Given the description of an element on the screen output the (x, y) to click on. 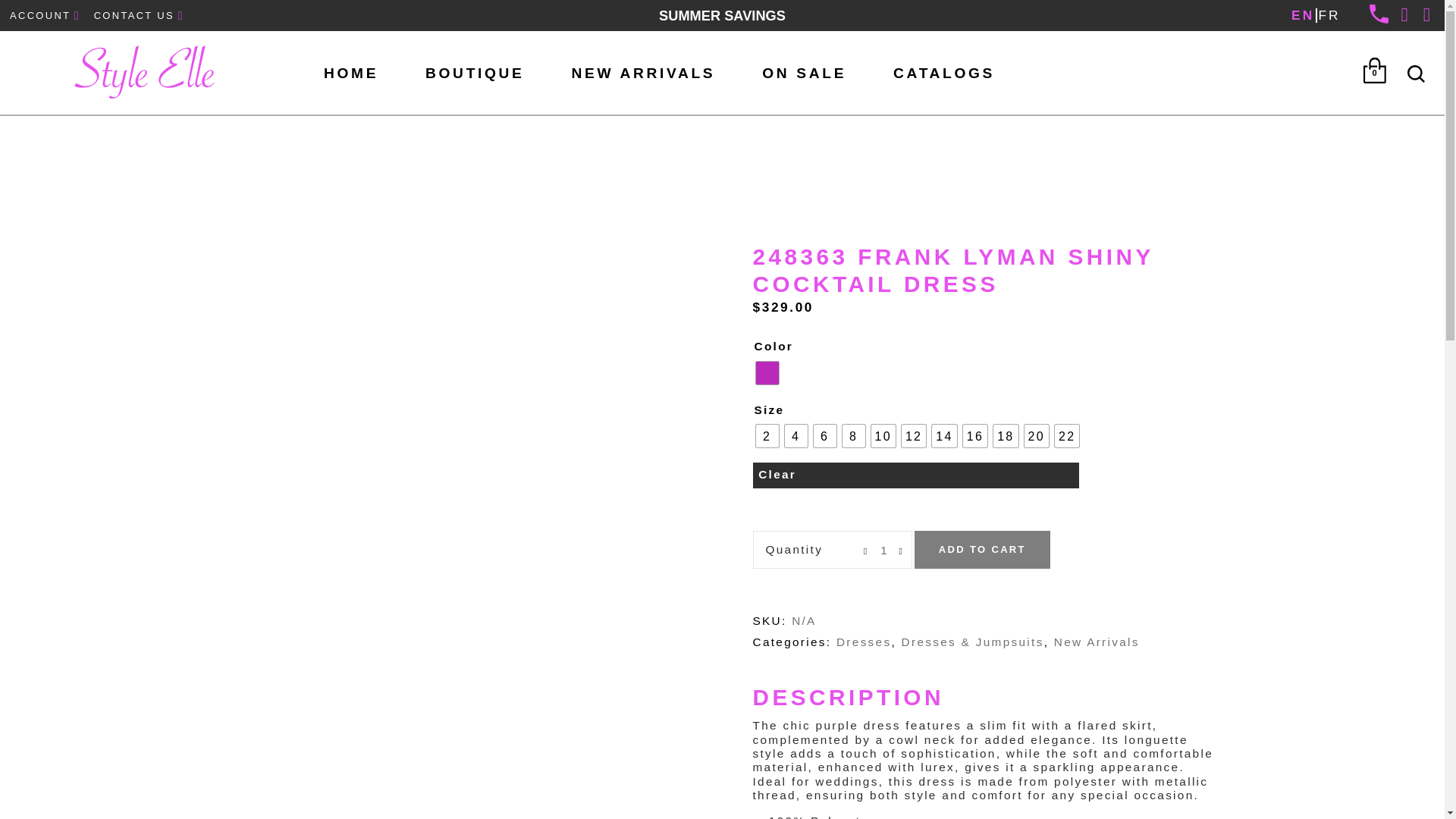
6 (823, 436)
18 (1004, 436)
HOME (350, 72)
2 (766, 436)
ACCOUNT (47, 15)
4 (795, 436)
10 (882, 436)
20 (1036, 436)
8 (852, 436)
BOUTIQUE (474, 72)
CONTACT US (140, 15)
EN (1303, 15)
12 (913, 436)
22 (1066, 436)
Purple (766, 372)
